Given the description of an element on the screen output the (x, y) to click on. 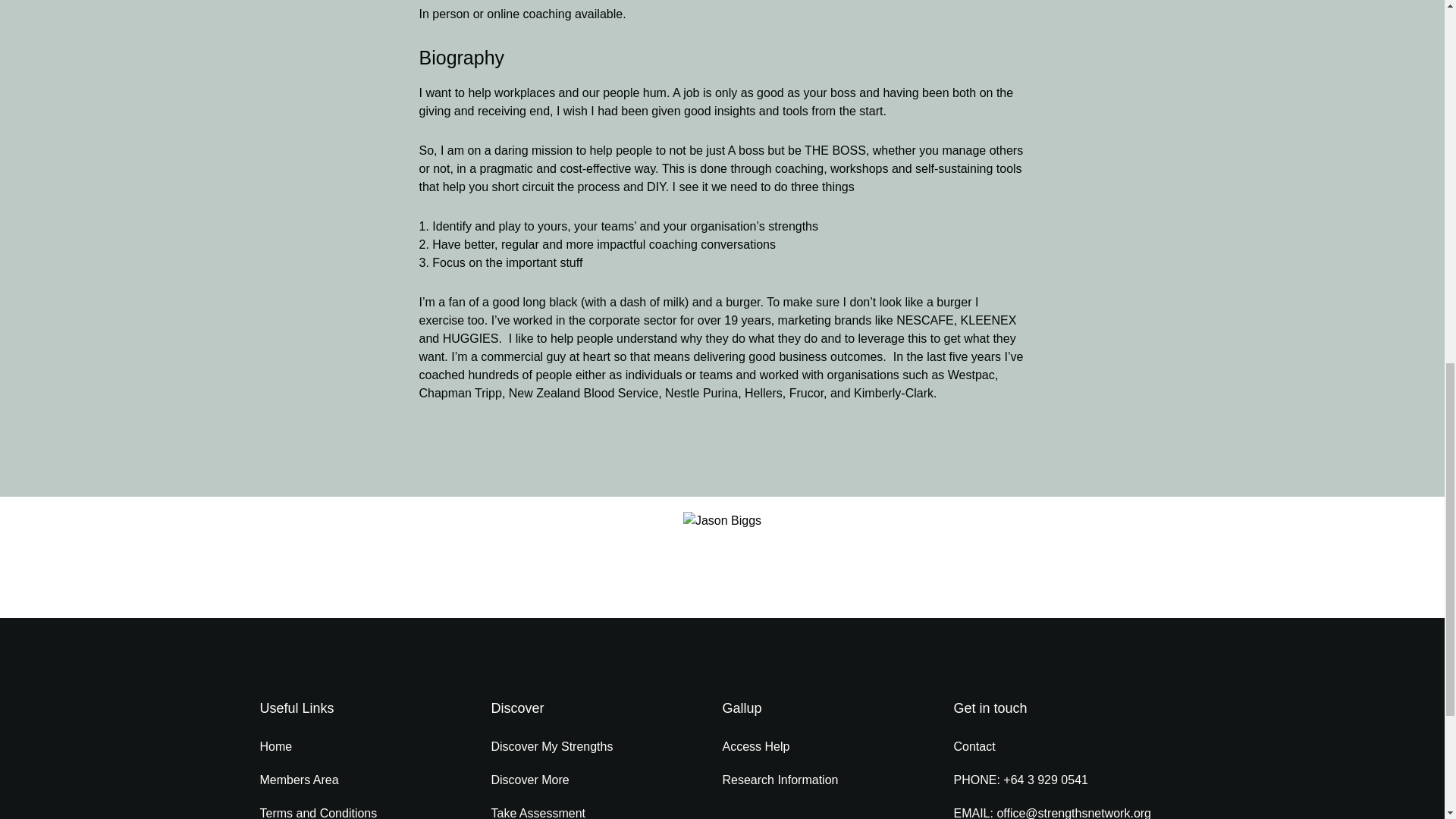
Discover My Strengths (607, 746)
Discover More (607, 779)
Home (374, 746)
Members Area (374, 779)
Terms and Conditions (374, 807)
